Given the description of an element on the screen output the (x, y) to click on. 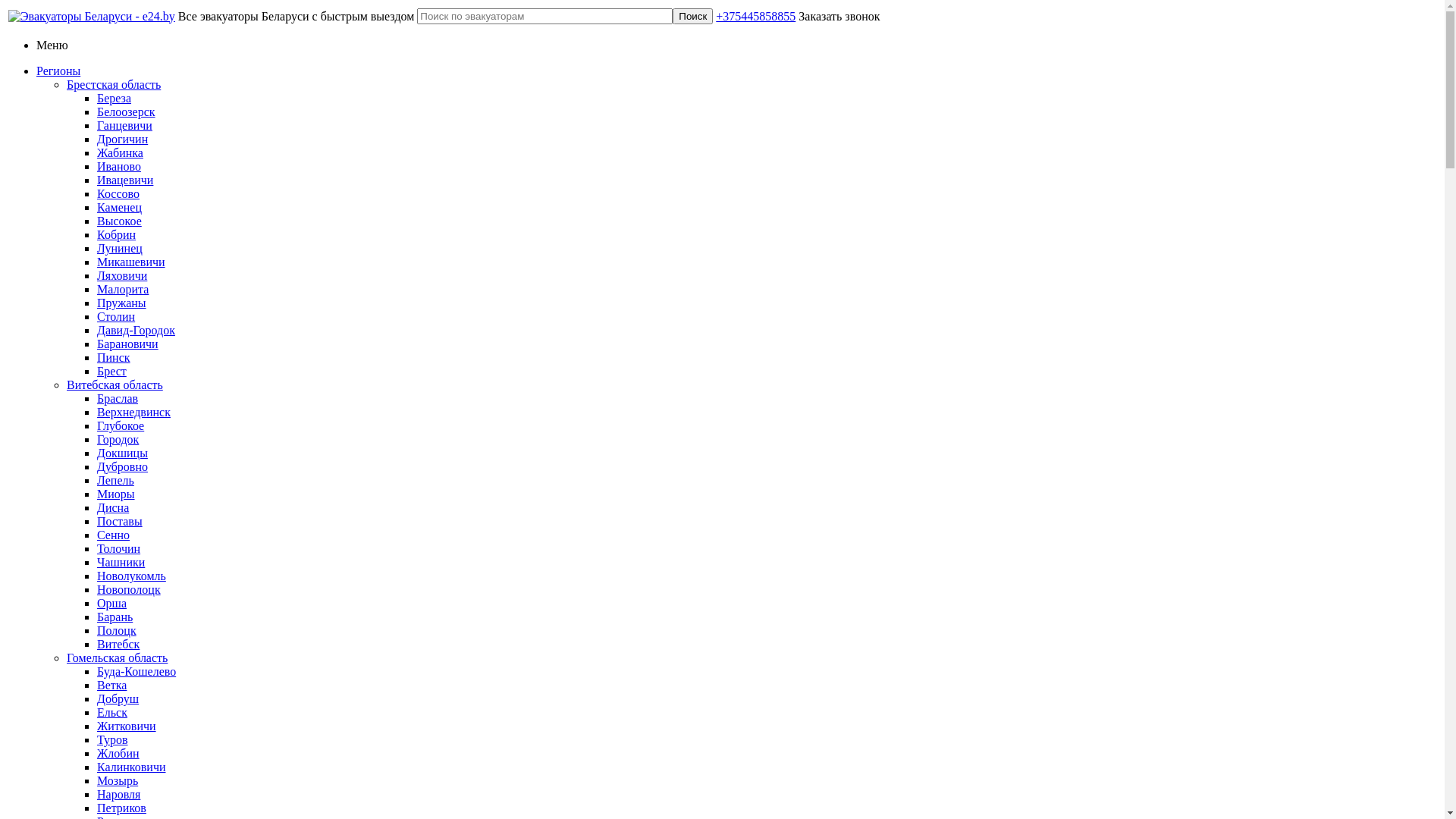
+375445858855 Element type: text (755, 15)
